Given the description of an element on the screen output the (x, y) to click on. 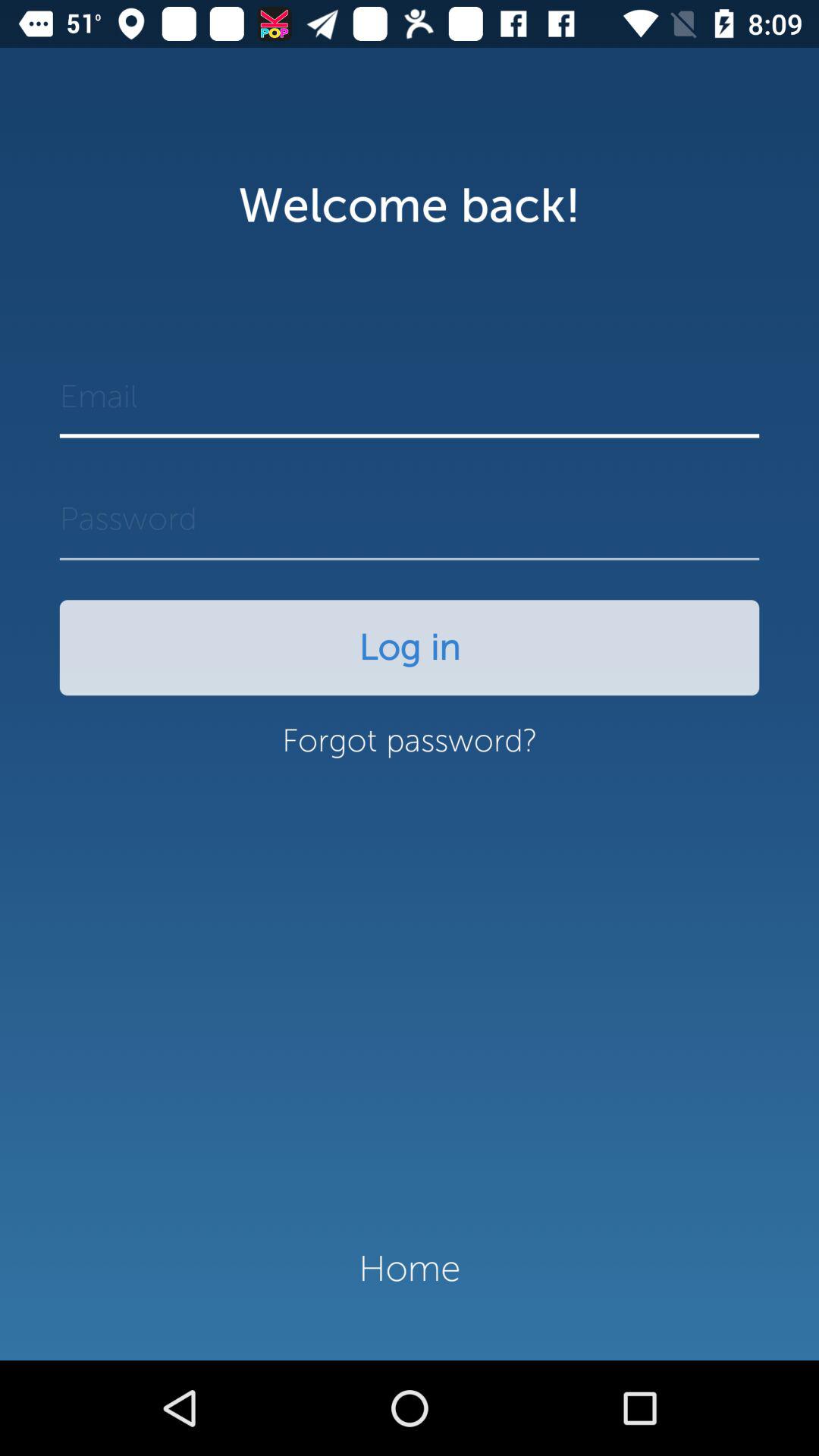
swipe to the forgot password? item (409, 748)
